Given the description of an element on the screen output the (x, y) to click on. 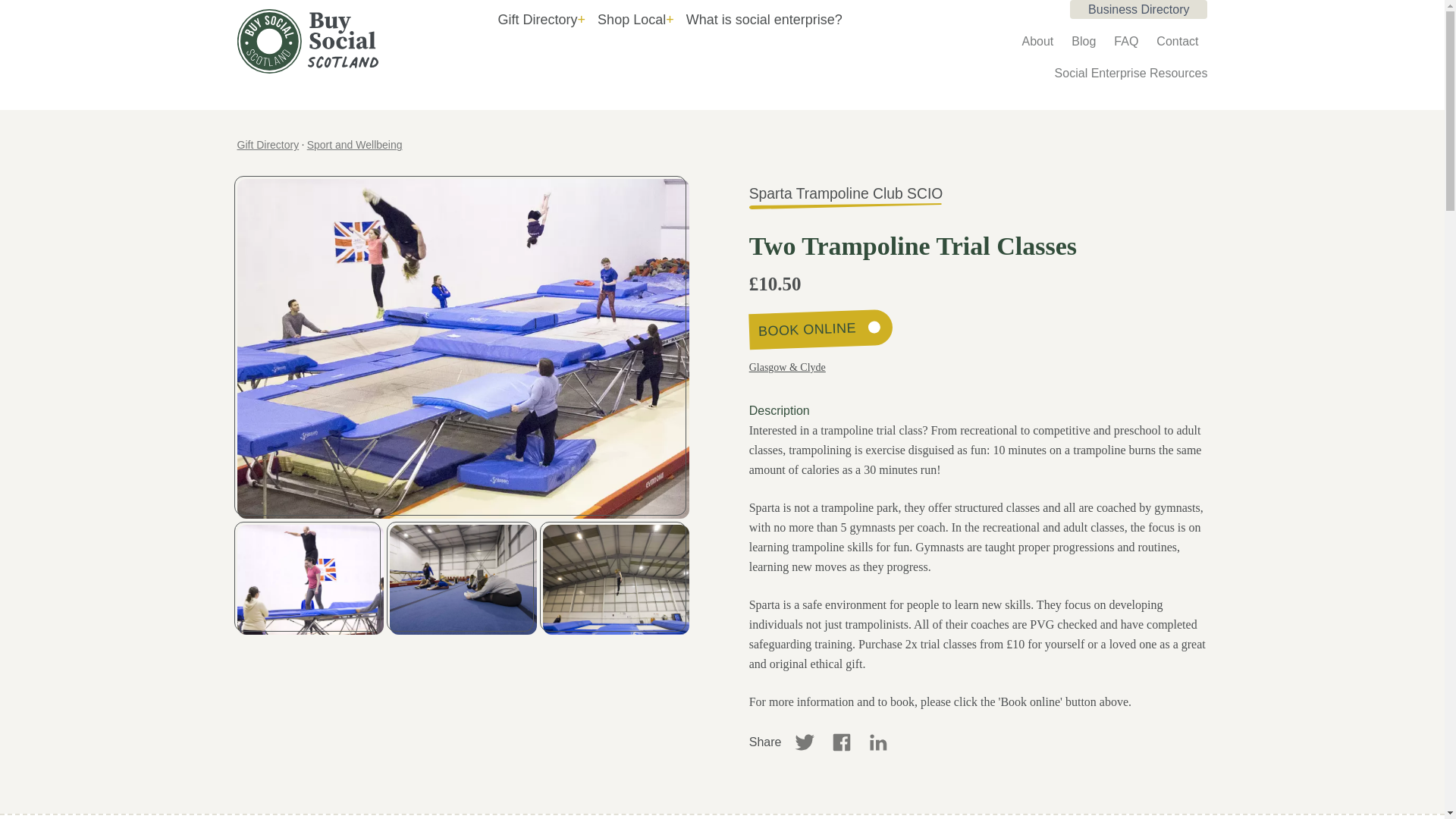
Social Enterprise Resources (1131, 72)
Gift Directory (541, 20)
What is social enterprise? (764, 20)
Gift Directory (266, 144)
Shop Local (635, 20)
Business Directory (1138, 9)
FAQ (1125, 41)
Facebook (842, 741)
Contact (1177, 41)
Buy Social Scotland (332, 41)
